Given the description of an element on the screen output the (x, y) to click on. 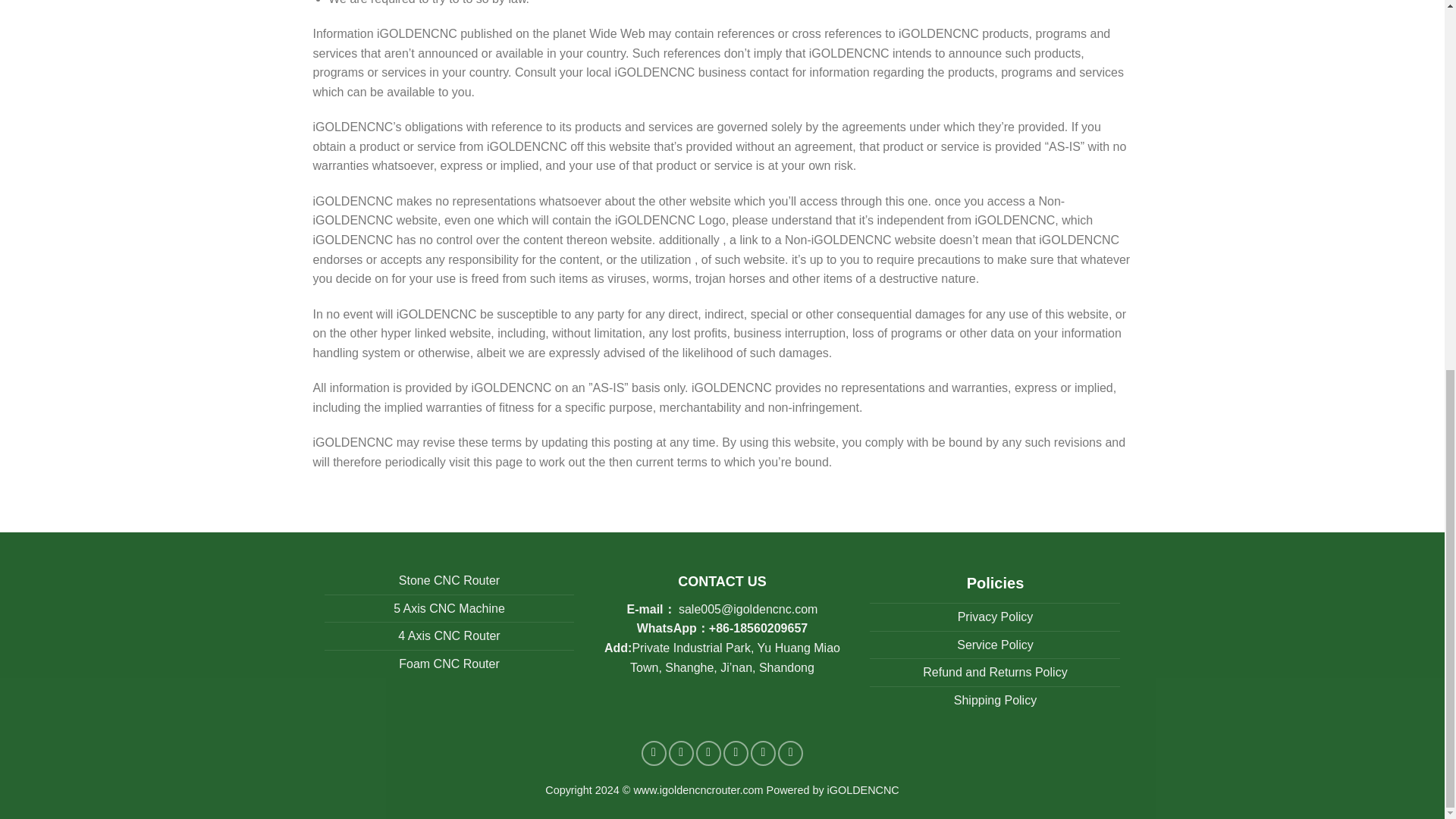
5 Axis CNC Machine (449, 608)
Service Policy (994, 644)
Follow on Twitter (707, 753)
Follow on Facebook (654, 753)
Shipping Policy (994, 699)
Refund and Returns Policy (995, 671)
Stone CNC Router (448, 580)
Follow on YouTube (790, 753)
Follow on LinkedIn (763, 753)
4 Axis CNC Router (448, 635)
Privacy Policy (995, 616)
Foam CNC Router (448, 663)
Follow on Instagram (681, 753)
Follow on Pinterest (735, 753)
